Given the description of an element on the screen output the (x, y) to click on. 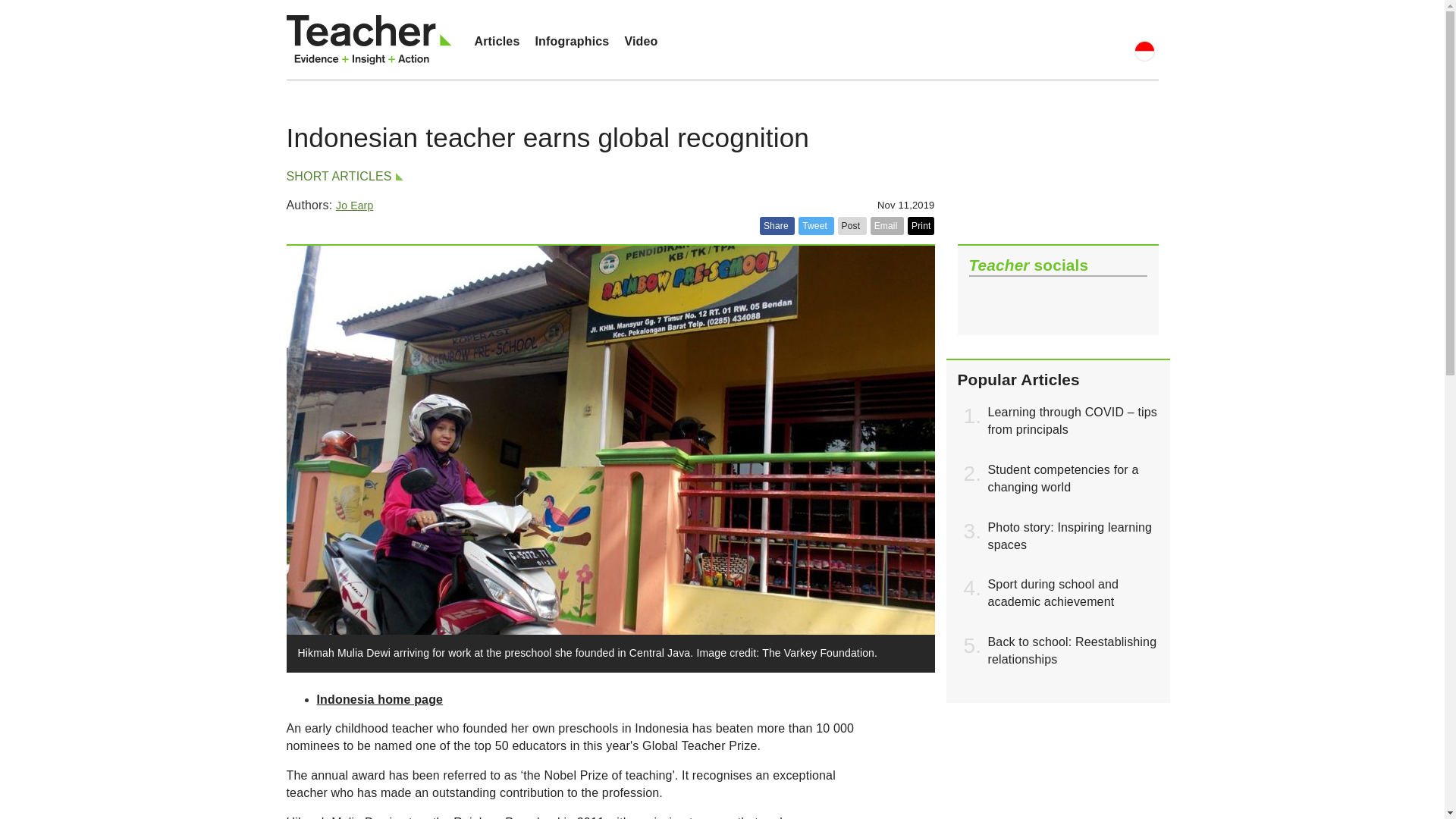
Photo story: Inspiring learning spaces (1069, 535)
Jo Earp (354, 205)
Infographics (571, 41)
Indonesia home page (380, 698)
Share to twitter (814, 226)
Articles (497, 41)
Print (920, 226)
Sport during school and academic achievement (1052, 593)
Student competencies for a changing world (1062, 478)
Back to school: Reestablishing relationships (1071, 650)
